Given the description of an element on the screen output the (x, y) to click on. 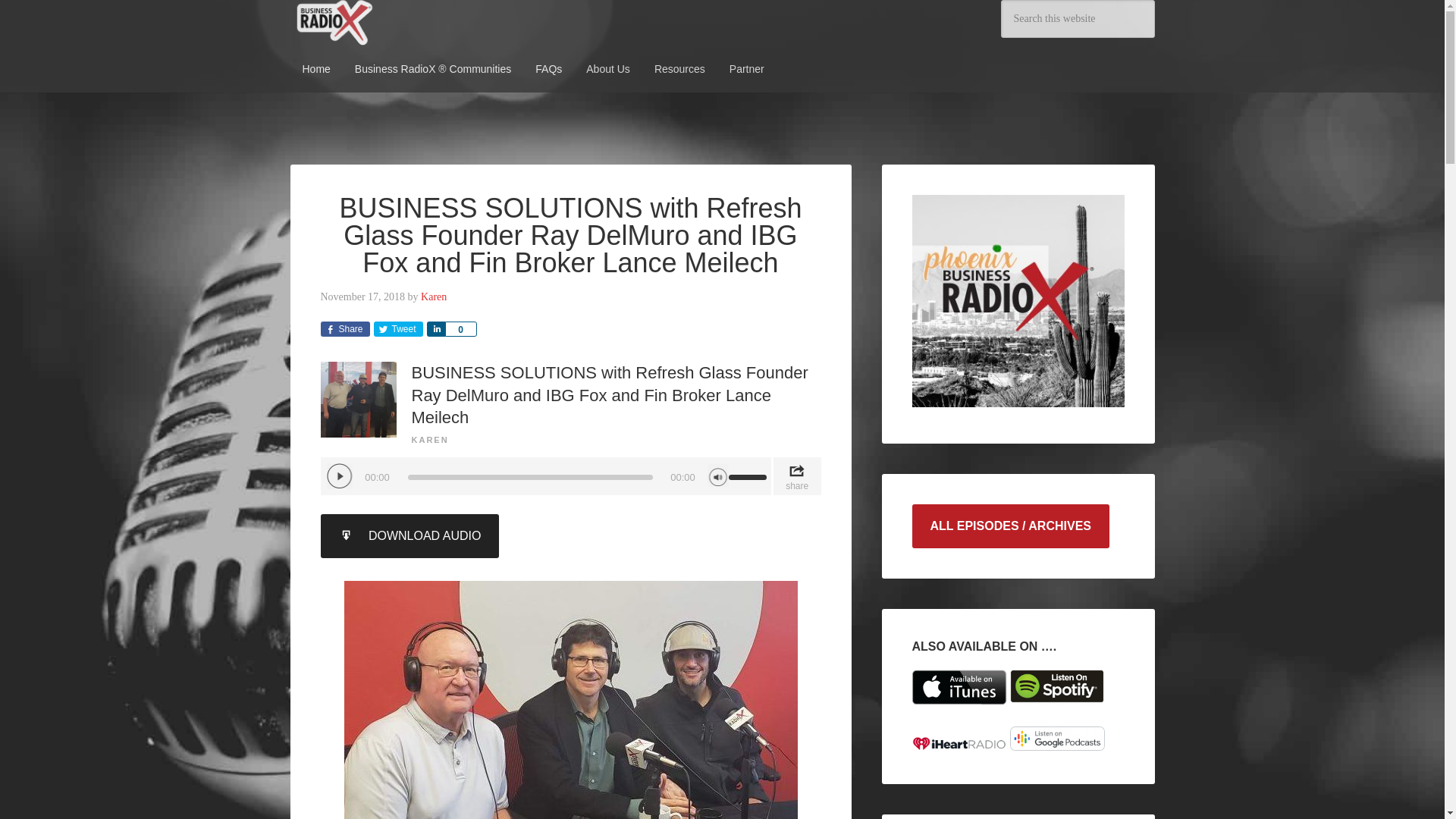
Play (339, 475)
Mute (717, 475)
Home (315, 68)
